Given the description of an element on the screen output the (x, y) to click on. 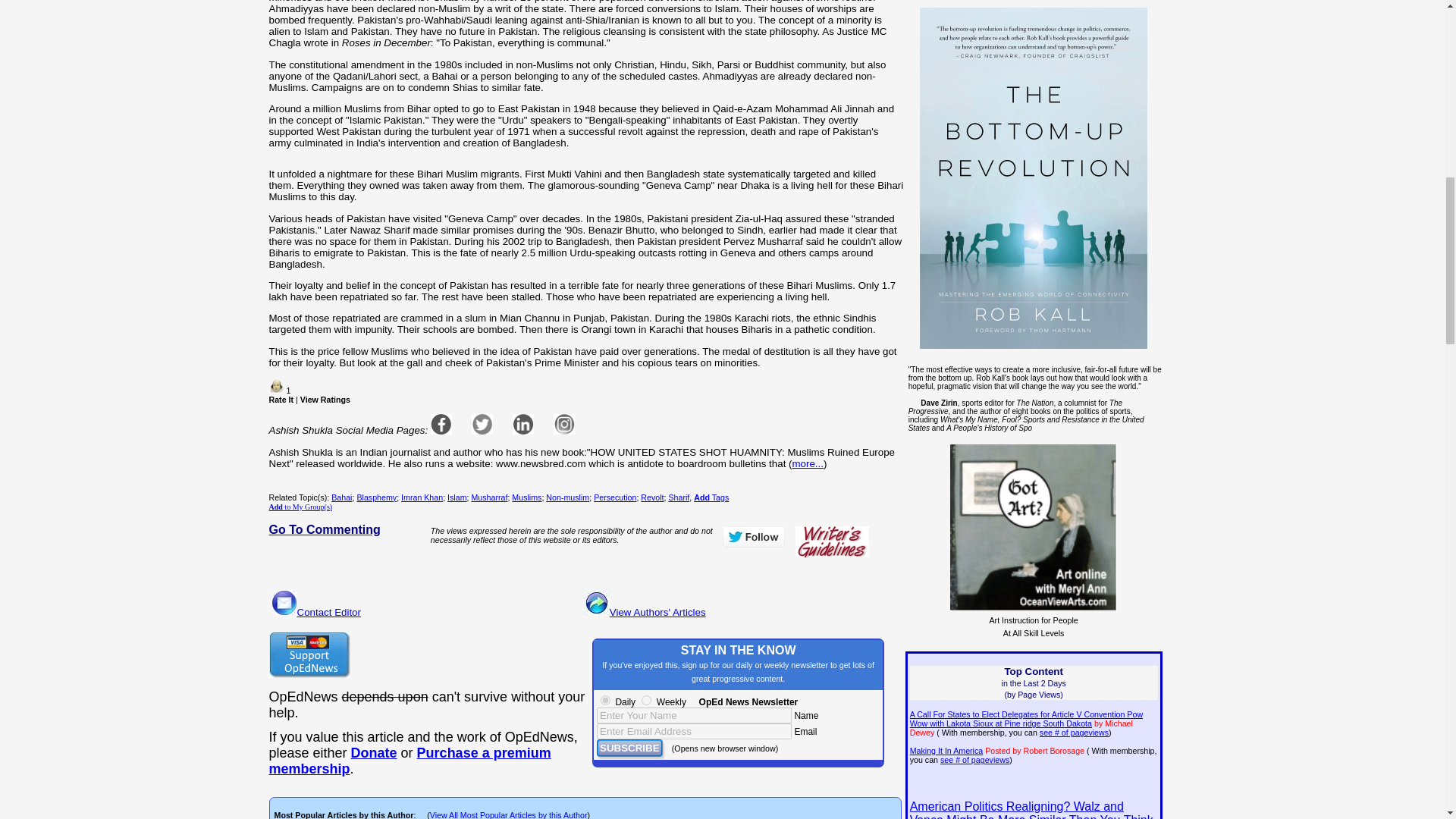
-- (373, 752)
Rate It (280, 399)
Muslims (526, 497)
more... (807, 463)
Imran Khan (421, 497)
Instagram page url on login Profile not filled in (564, 424)
Follow Me on Twitter (753, 536)
Enter Your Name (694, 715)
Bahai (341, 497)
Writers Guidelines (831, 541)
